Given the description of an element on the screen output the (x, y) to click on. 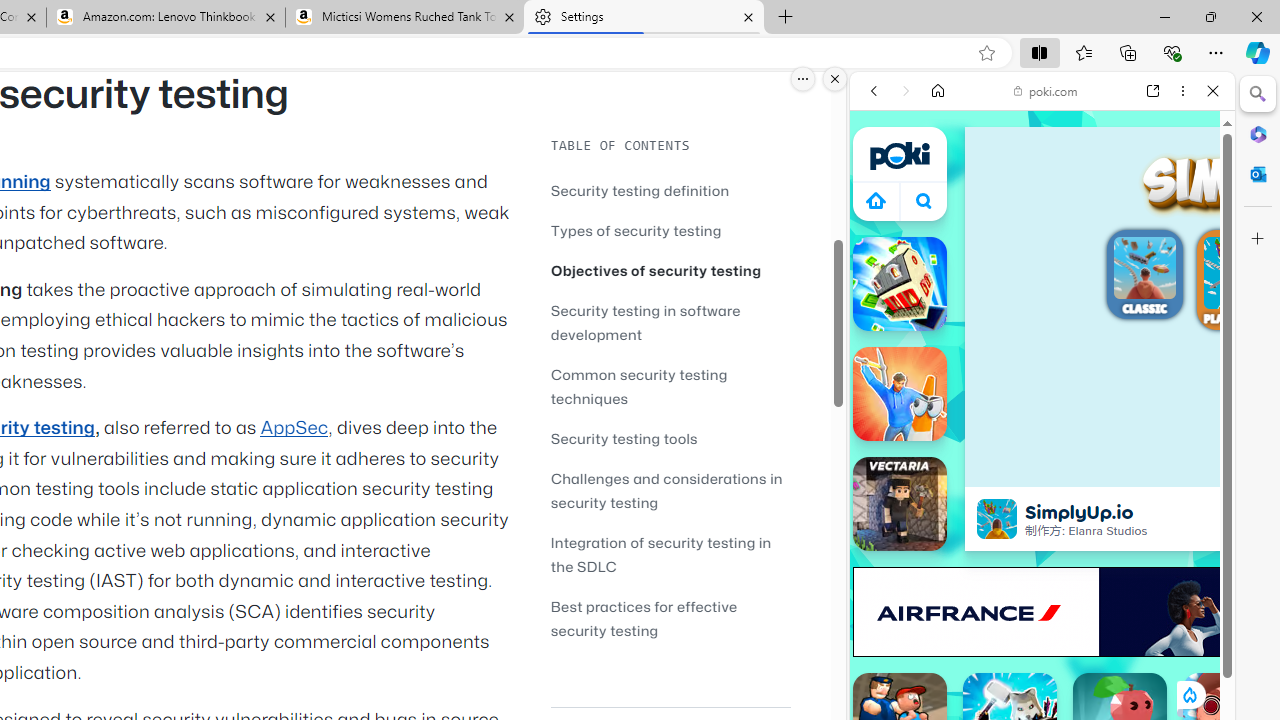
Class: aprWdaSScyiJf4Jvmsx9 (875, 200)
Show More Io Games (1164, 619)
Show More Car Games (1164, 472)
Security testing in software development (670, 322)
Simply Prop Hunt Simply Prop Hunt (899, 393)
Two Player Games (1042, 568)
Vectaria.io (899, 503)
Challenges and considerations in security testing (666, 490)
Security testing in software development (645, 321)
Show More Two Player Games (1164, 570)
